Given the description of an element on the screen output the (x, y) to click on. 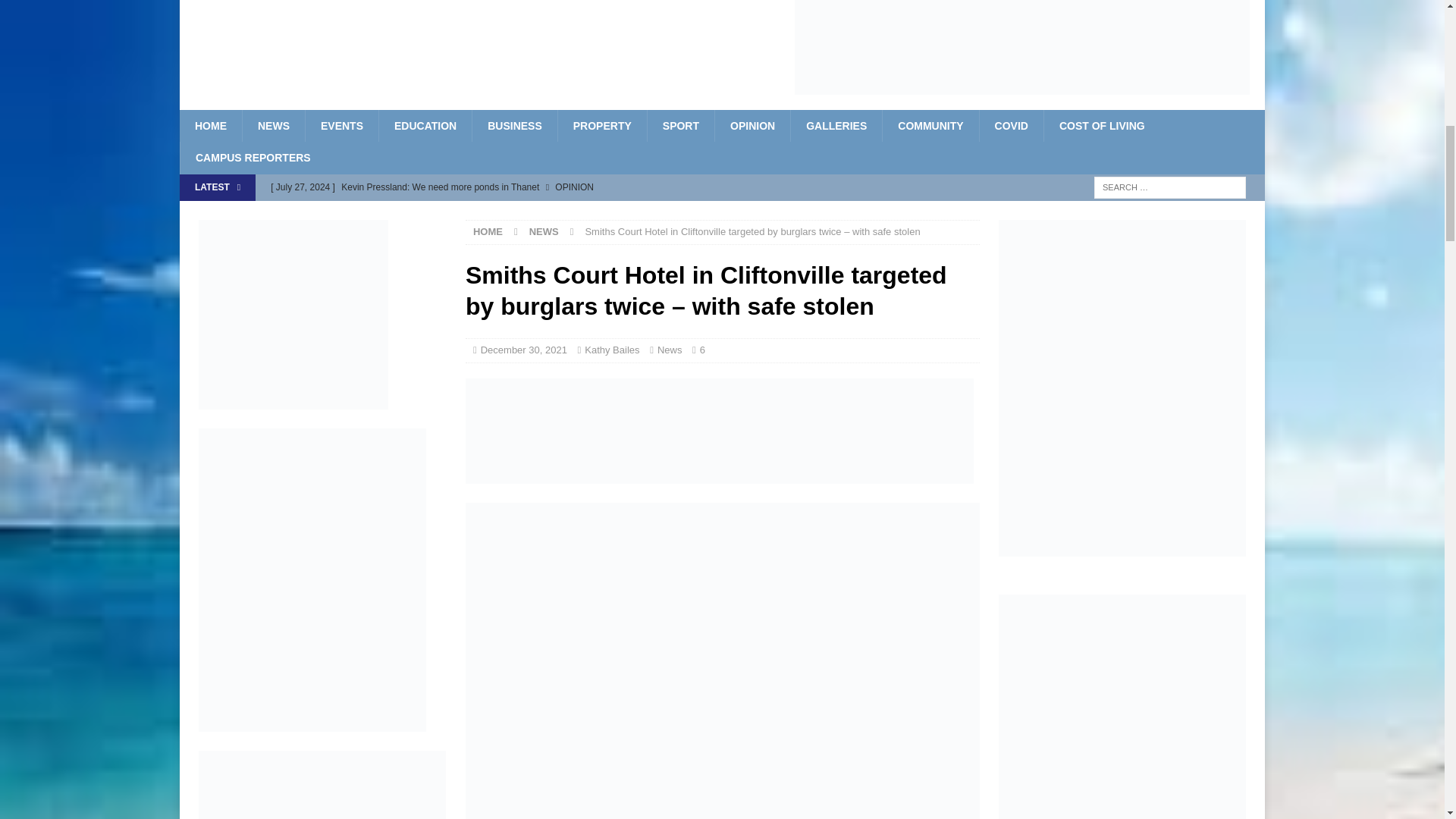
COMMUNITY (930, 125)
COVID (1010, 125)
SPORT (680, 125)
CAMPUS REPORTERS (252, 157)
NEWS (272, 125)
COST OF LIVING (1101, 125)
6 (702, 349)
Kevin Pressland: We need more ponds in Thanet (574, 186)
HOME (210, 125)
PROPERTY (601, 125)
EVENTS (341, 125)
BUSINESS (514, 125)
EDUCATION (424, 125)
GALLERIES (836, 125)
OPINION (752, 125)
